Given the description of an element on the screen output the (x, y) to click on. 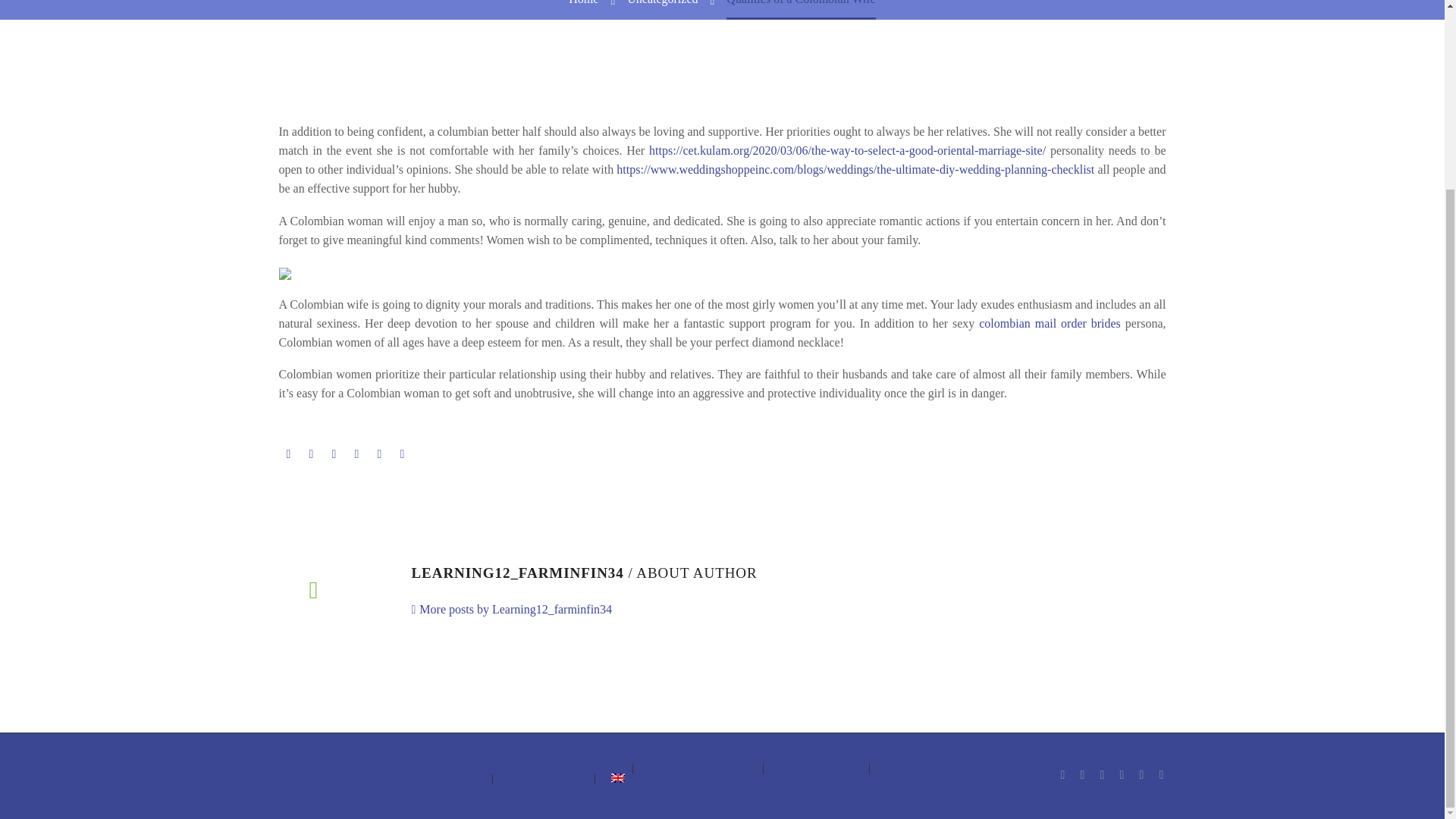
Pinterest (333, 453)
Facebook (288, 453)
Uncategorized (662, 2)
Twitter (310, 453)
LinkedIn (378, 453)
Tumblr (356, 453)
colombian mail order brides (1049, 323)
Home (583, 2)
Reddit (401, 453)
